Given the description of an element on the screen output the (x, y) to click on. 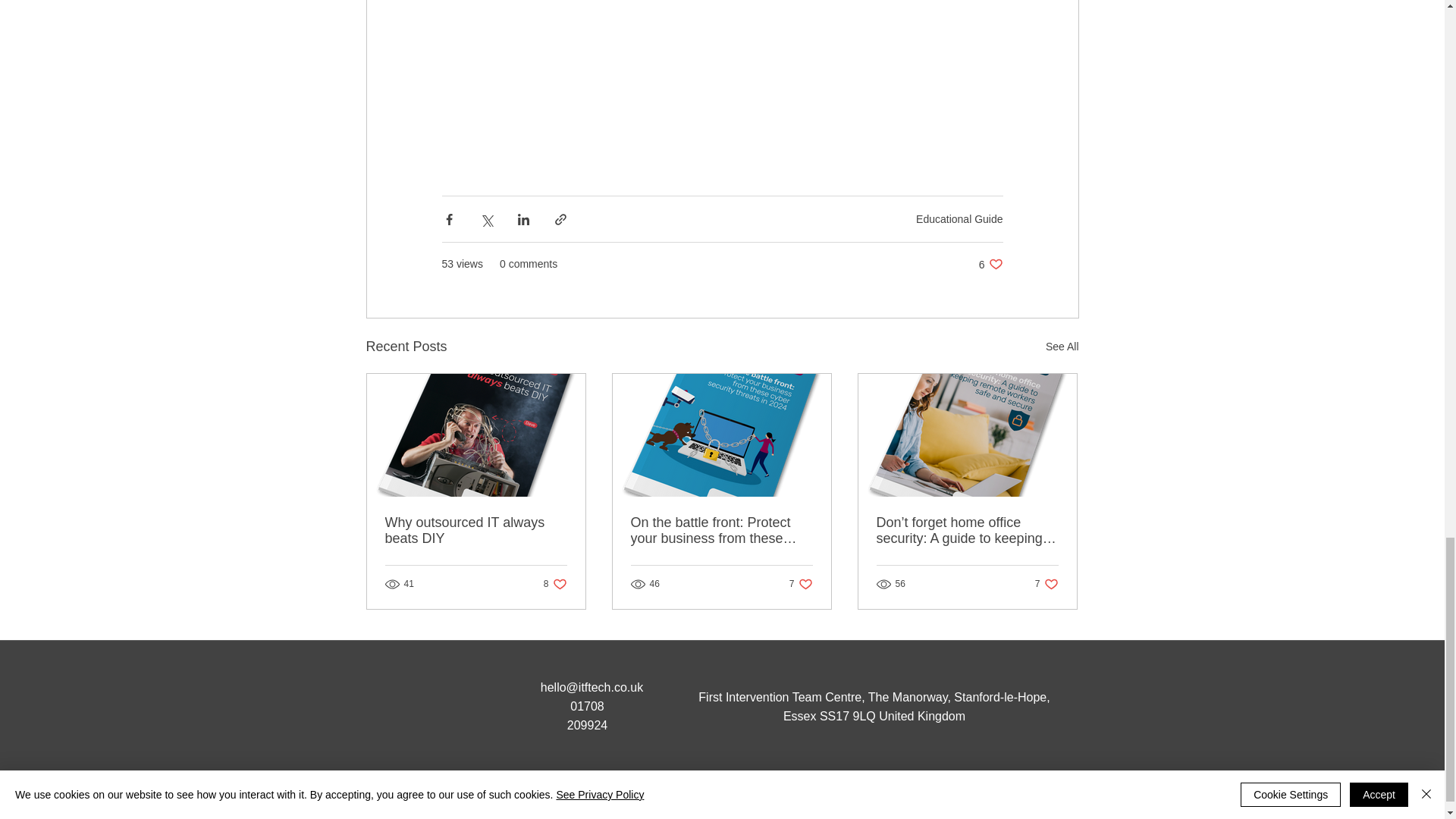
Why outsourced IT always beats DIY (476, 531)
Educational Guide (959, 218)
See All (1061, 346)
